Given the description of an element on the screen output the (x, y) to click on. 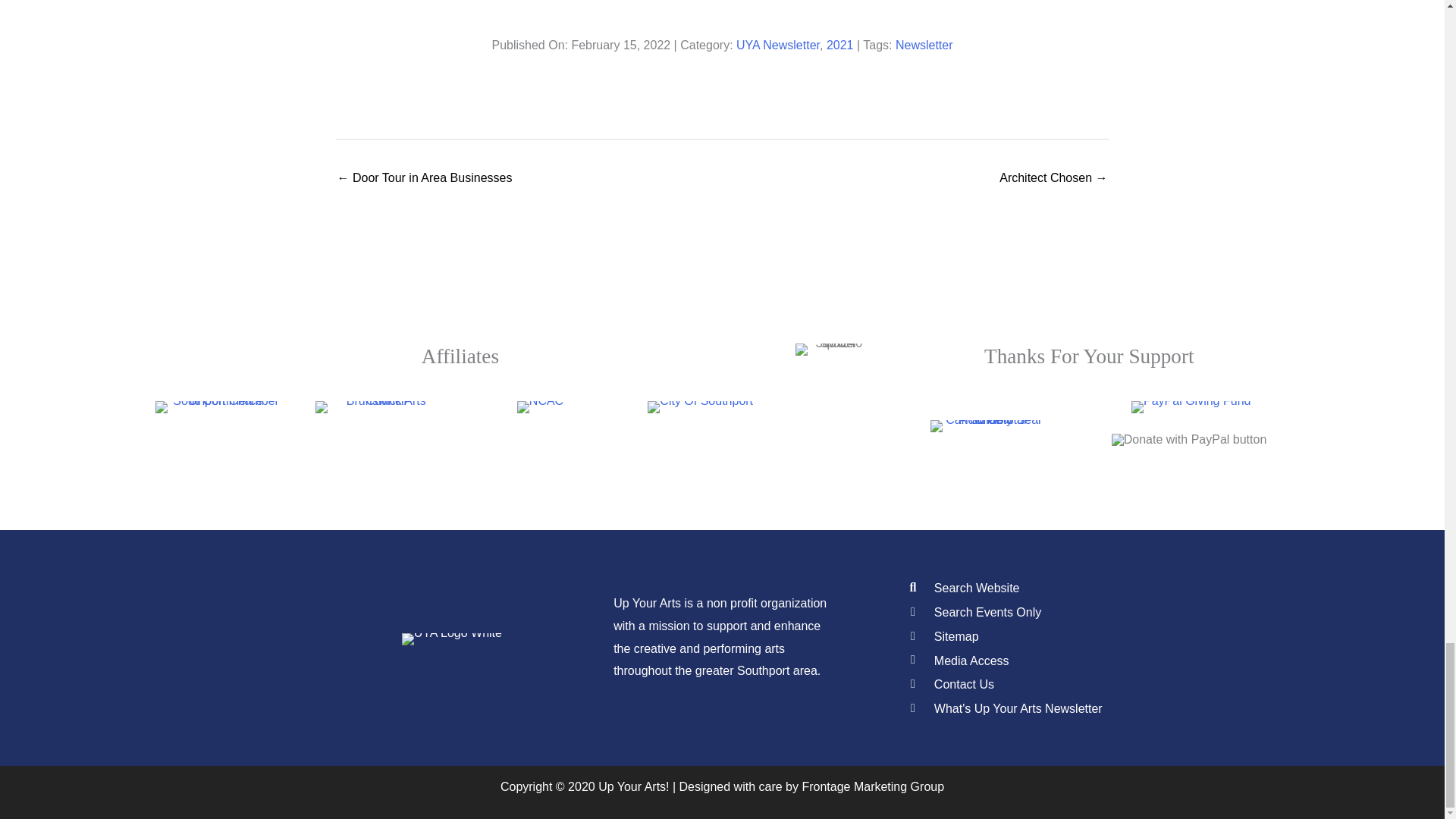
300x240 spacer white (831, 349)
NCAC (539, 407)
